Given the description of an element on the screen output the (x, y) to click on. 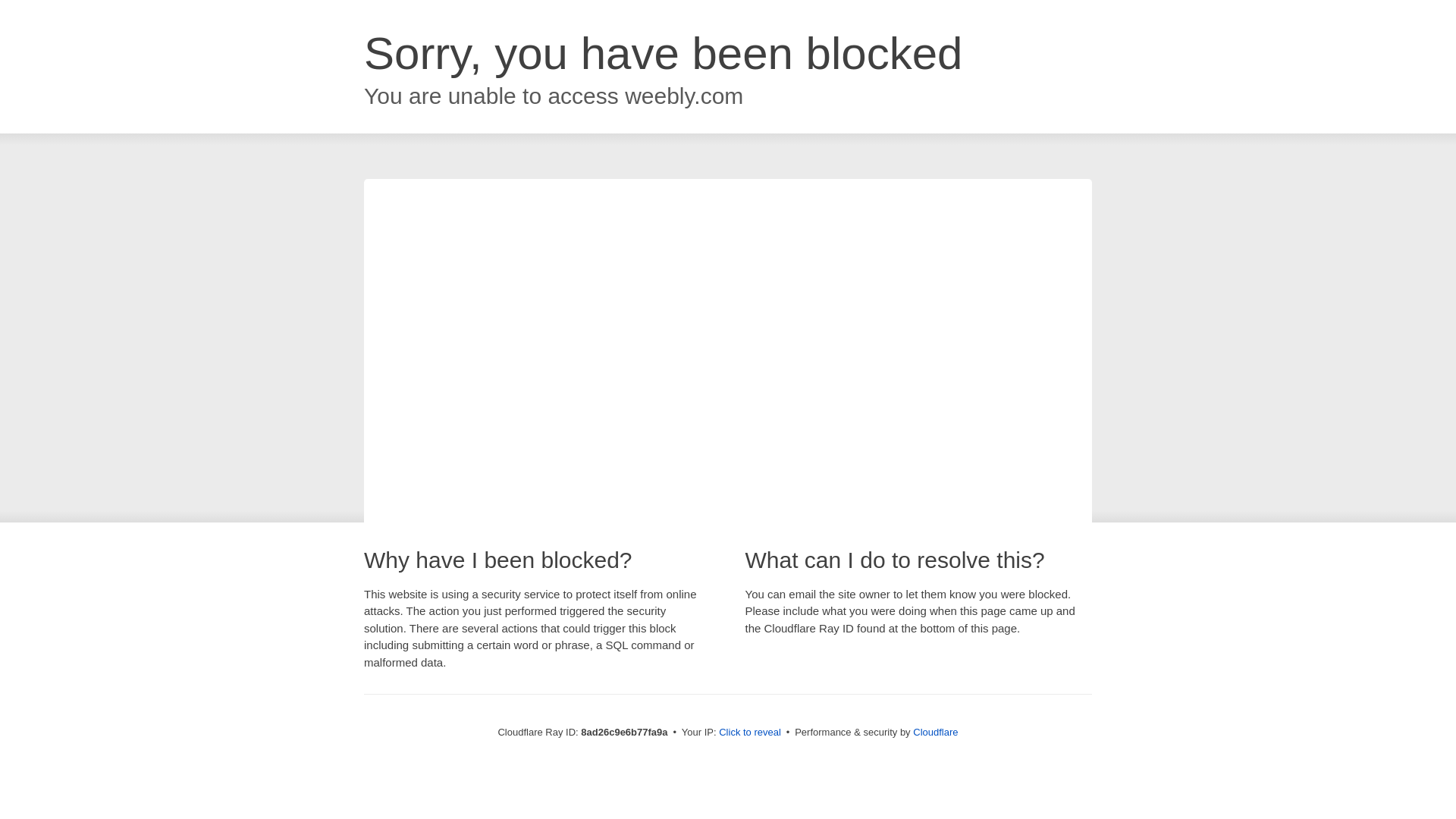
Click to reveal (749, 732)
Cloudflare (935, 731)
